Given the description of an element on the screen output the (x, y) to click on. 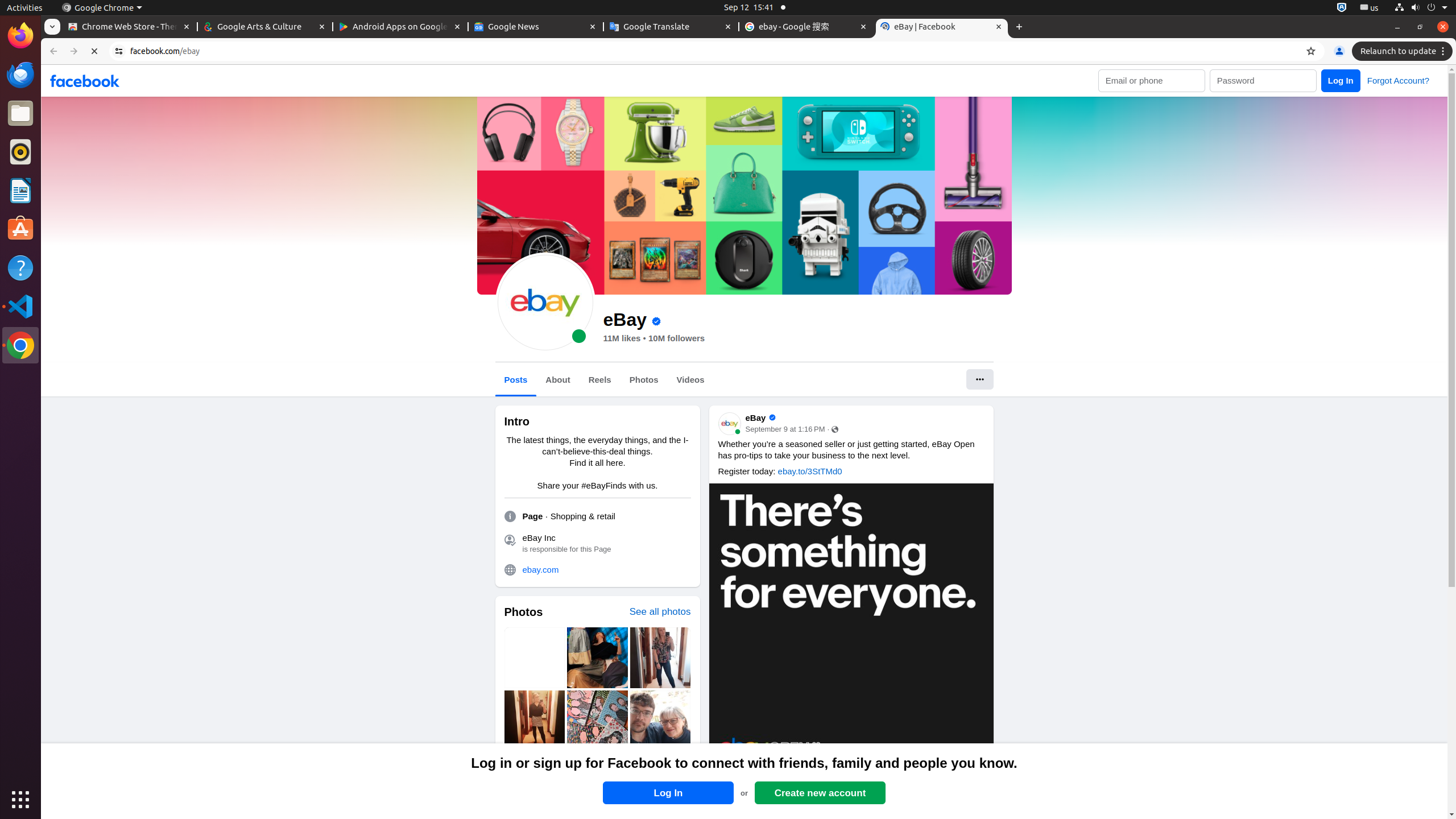
Photos Element type: page-tab (643, 379)
White text reading “There’s something for everyone.” sits above the eBay Open 2024 logo. Everything sits against a black background. Element type: link (850, 624)
See all photos Element type: link (660, 612)
eBay Element type: link (545, 302)
Google Arts & Culture - Memory usage - 40.8 MB Element type: page-tab (264, 26)
